Given the description of an element on the screen output the (x, y) to click on. 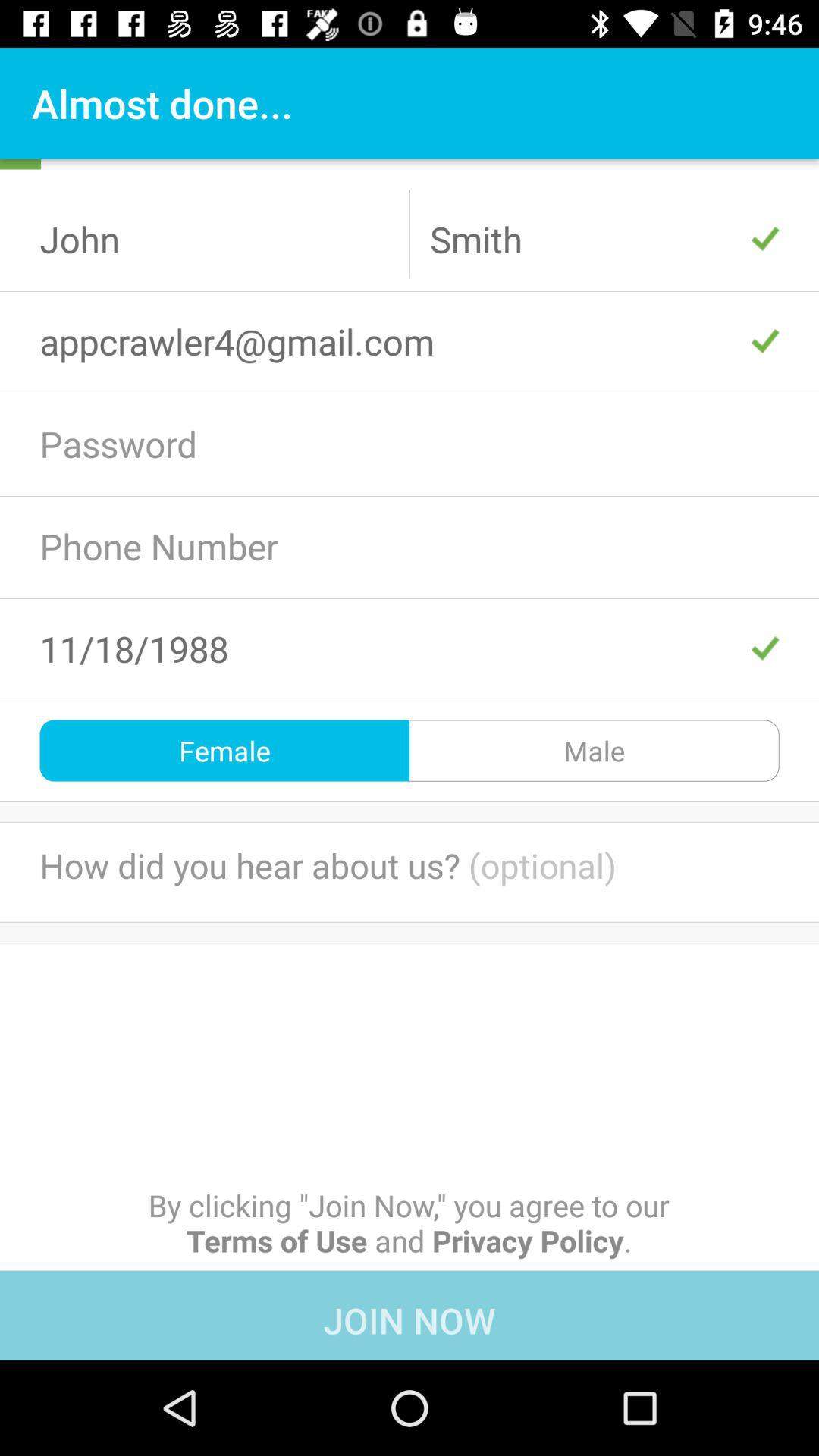
jump to male (594, 750)
